Given the description of an element on the screen output the (x, y) to click on. 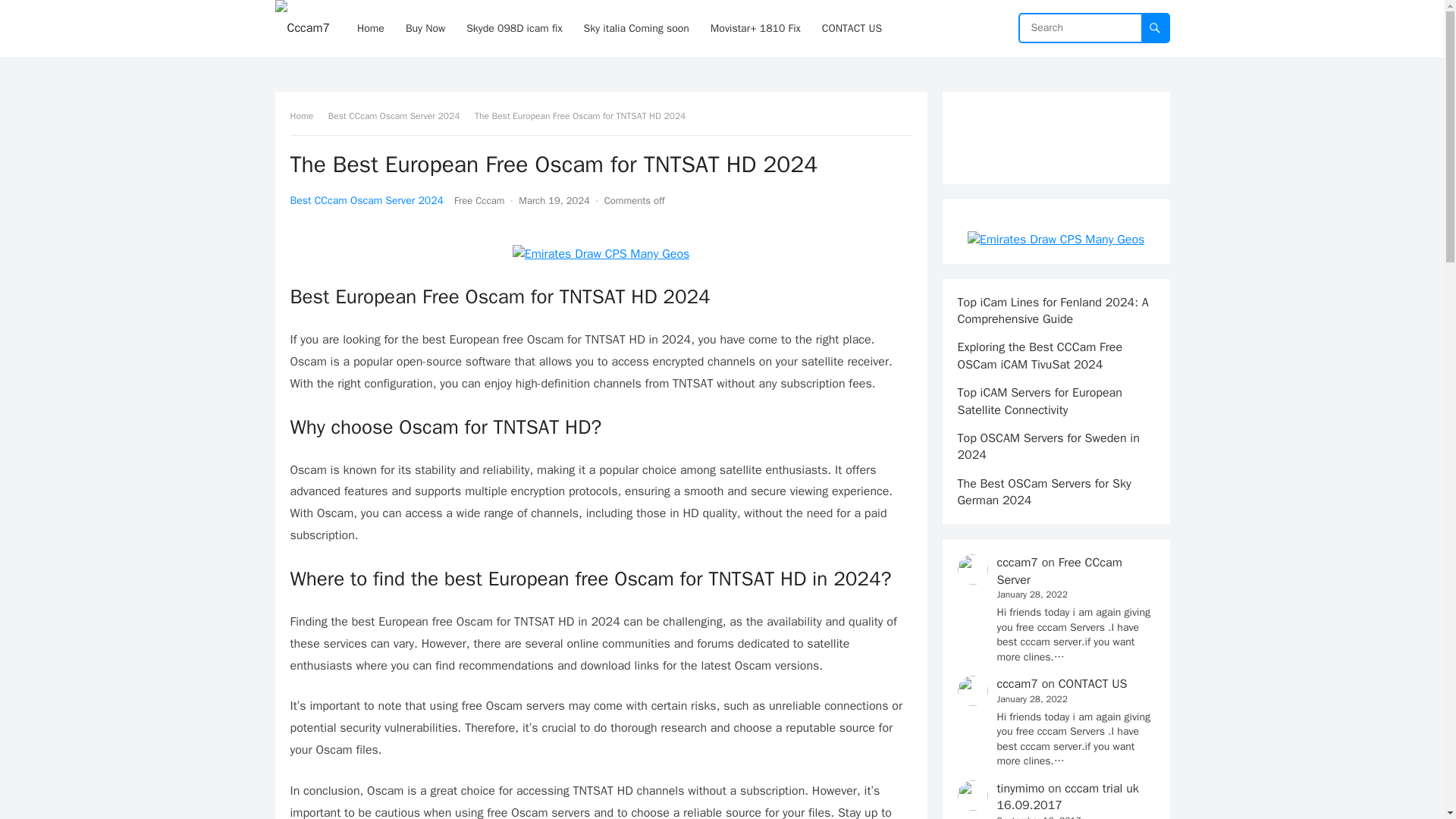
Skyde 098D icam fix (513, 28)
Best CCcam Oscam Server 2024 (365, 200)
Best CCcam Oscam Server 2024 (399, 115)
Home (306, 115)
Buy Now (425, 28)
Sky italia Coming soon (636, 28)
Posts by Free Cccam (478, 200)
Free Cccam (478, 200)
CONTACT US (851, 28)
